Given the description of an element on the screen output the (x, y) to click on. 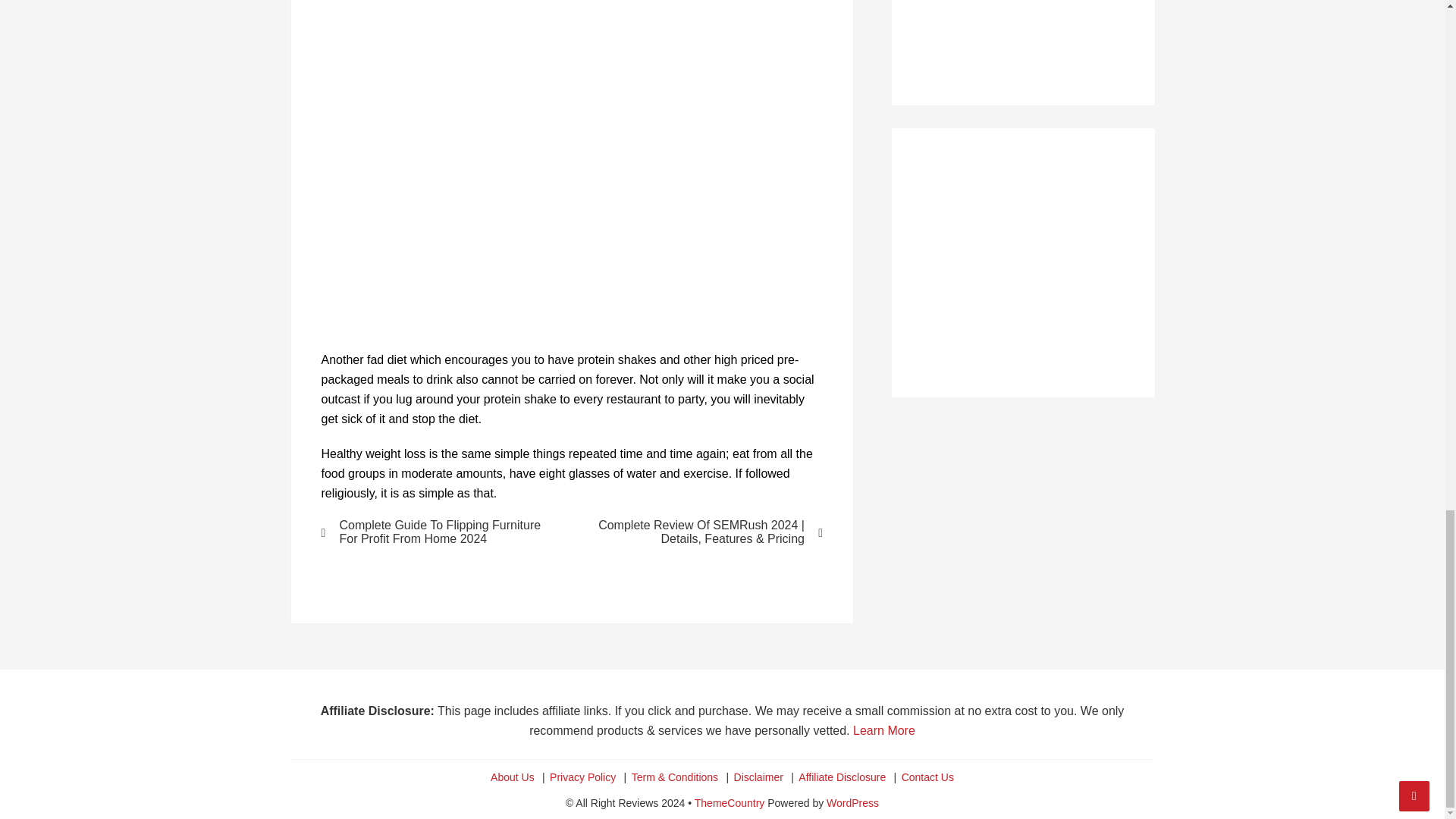
Privacy Policy (582, 777)
ThemeCountry (729, 802)
WordPress (853, 802)
BasePress - The best free WordPress blog theme for WordPress (729, 802)
Contact Us (927, 777)
Affiliate Disclosure (841, 777)
Disclaimer (758, 777)
About Us (512, 777)
Learn More (884, 730)
